Given the description of an element on the screen output the (x, y) to click on. 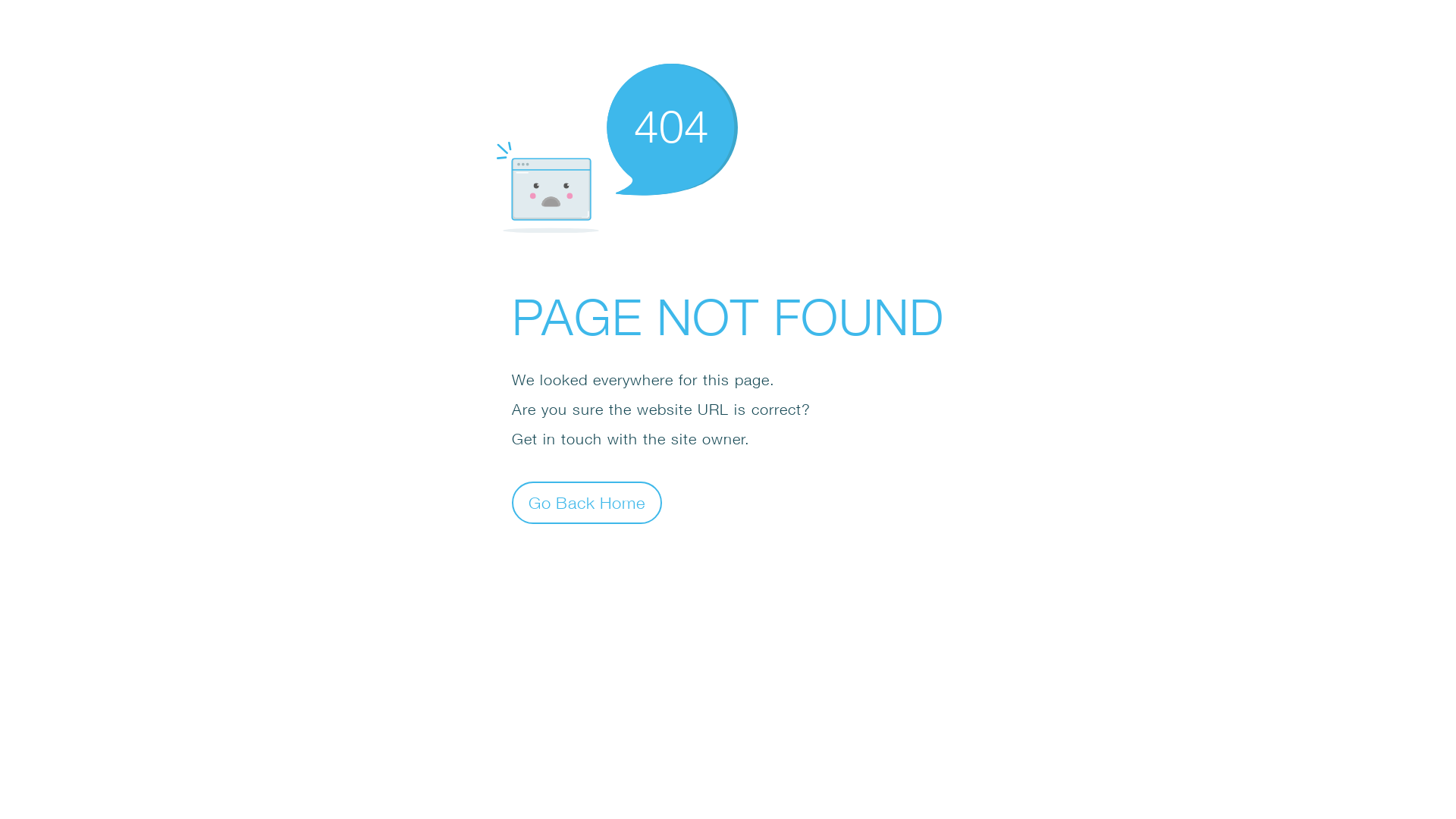
Go Back Home Element type: text (586, 502)
